Given the description of an element on the screen output the (x, y) to click on. 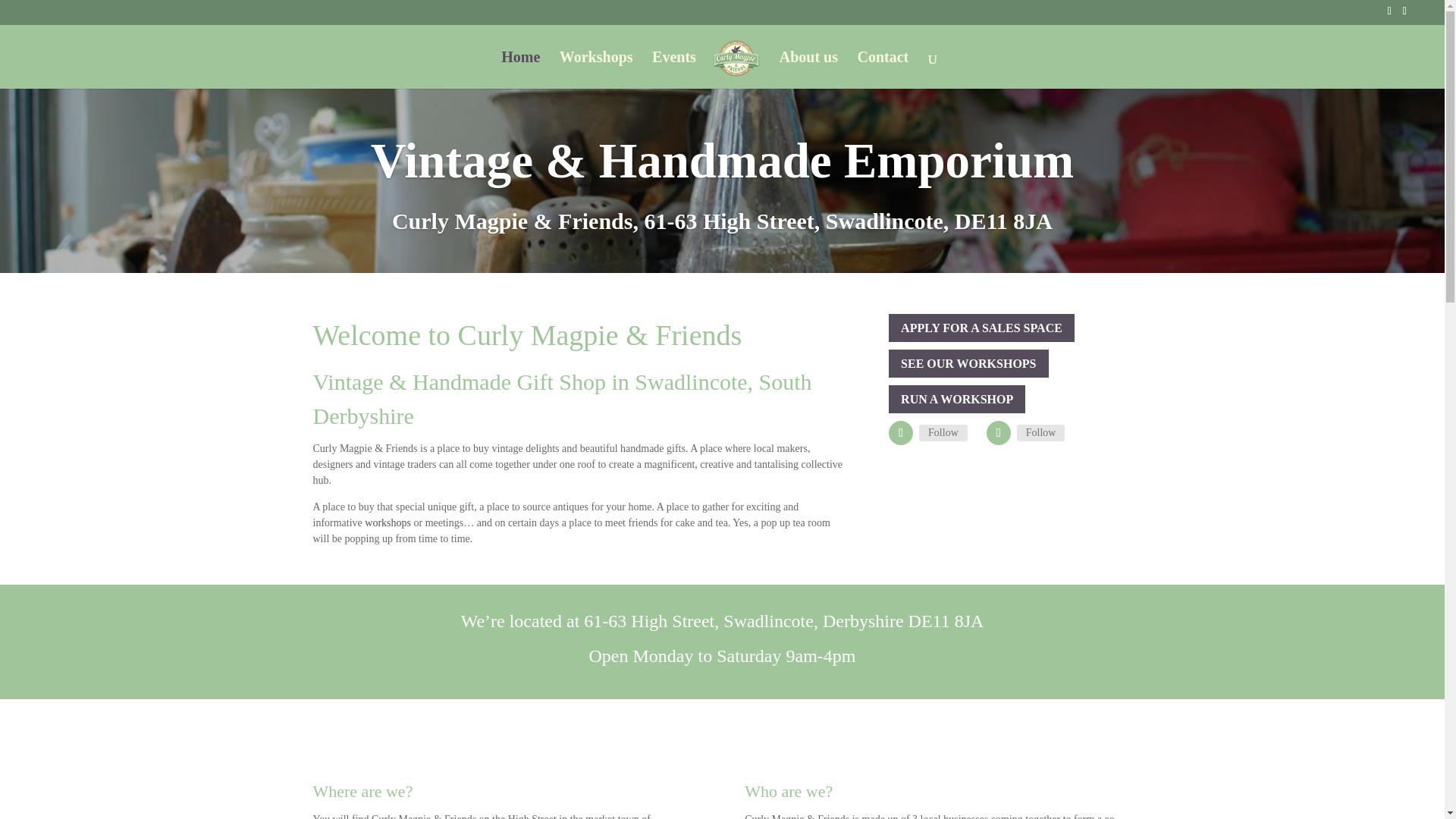
Workshops (596, 69)
Events (673, 69)
SEE OUR WORKSHOPS (968, 363)
Follow on Instagram (998, 432)
Follow on Facebook (900, 432)
RUN A WORKSHOP (956, 398)
Facebook (943, 433)
Follow (943, 433)
About us (808, 69)
APPLY FOR A SALES SPACE (981, 327)
Instagram (1040, 433)
Follow (1040, 433)
Home (520, 69)
workshops (387, 522)
Contact (882, 69)
